Given the description of an element on the screen output the (x, y) to click on. 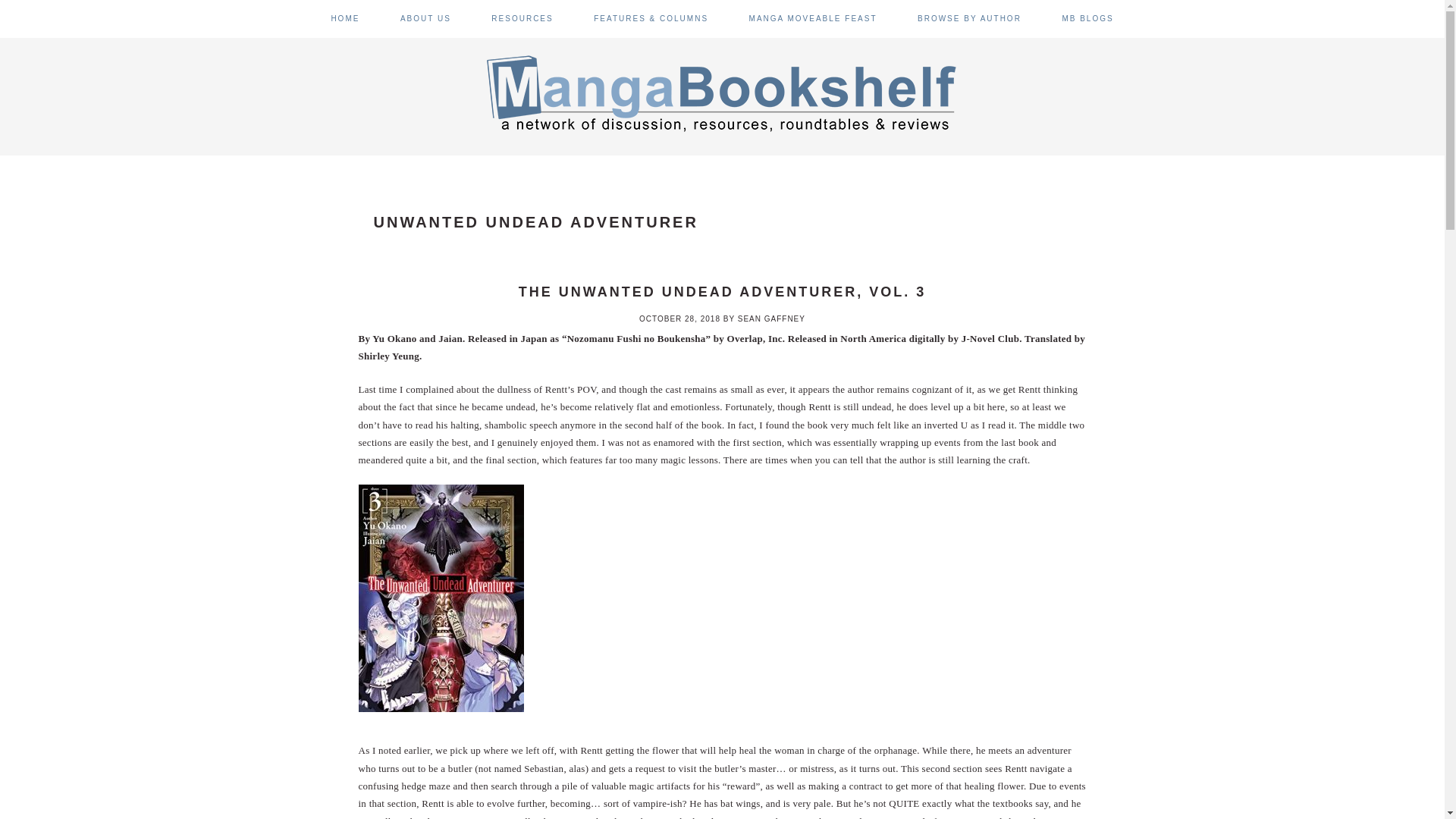
Posts by Sean Gaffney (771, 318)
HOME (344, 18)
MANGA MOVEABLE FEAST (813, 18)
RESOURCES (521, 18)
ABOUT US (425, 18)
